Given the description of an element on the screen output the (x, y) to click on. 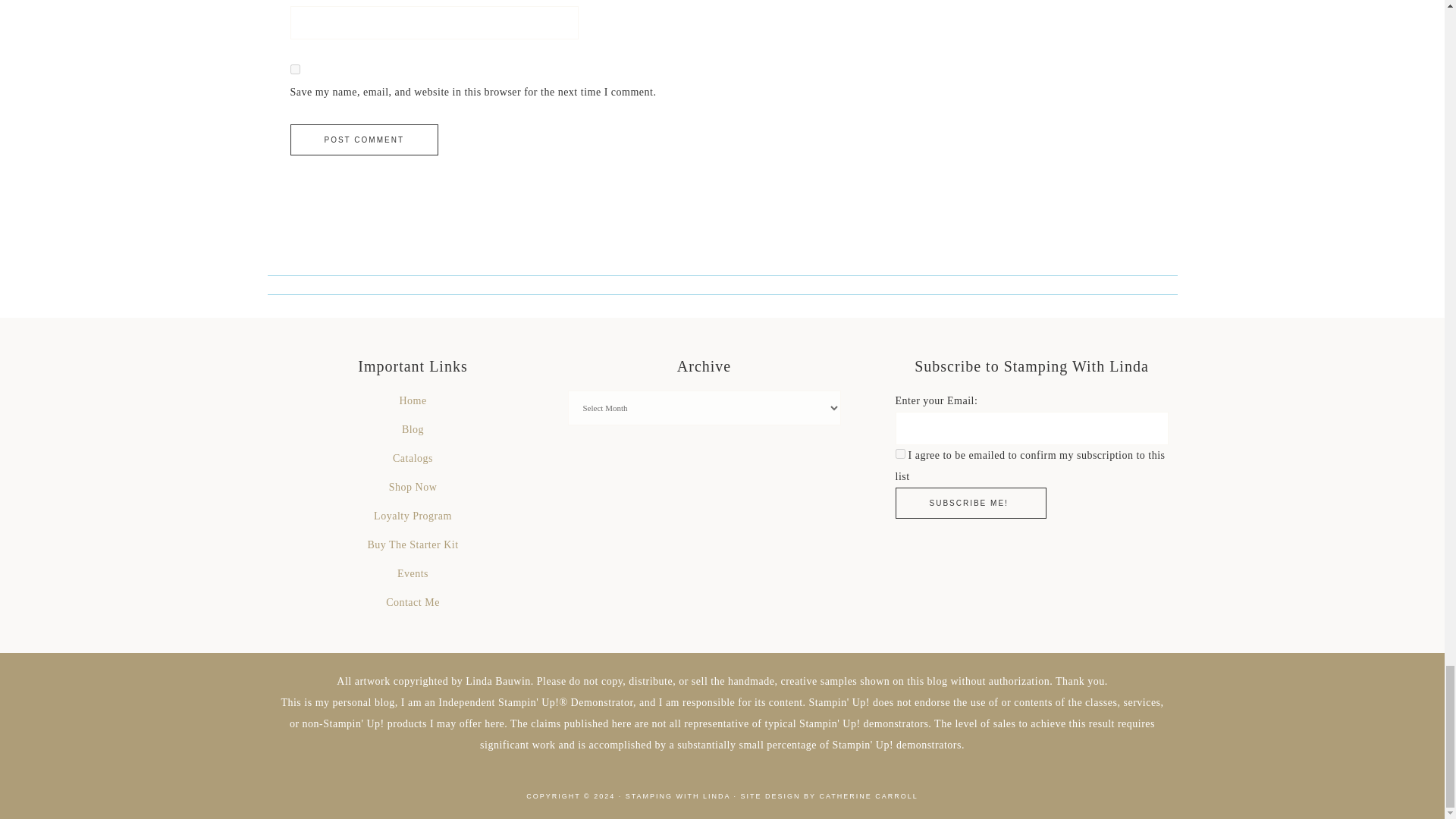
Subscribe me!  (970, 502)
yes (294, 69)
on (899, 453)
Post Comment (363, 139)
